Given the description of an element on the screen output the (x, y) to click on. 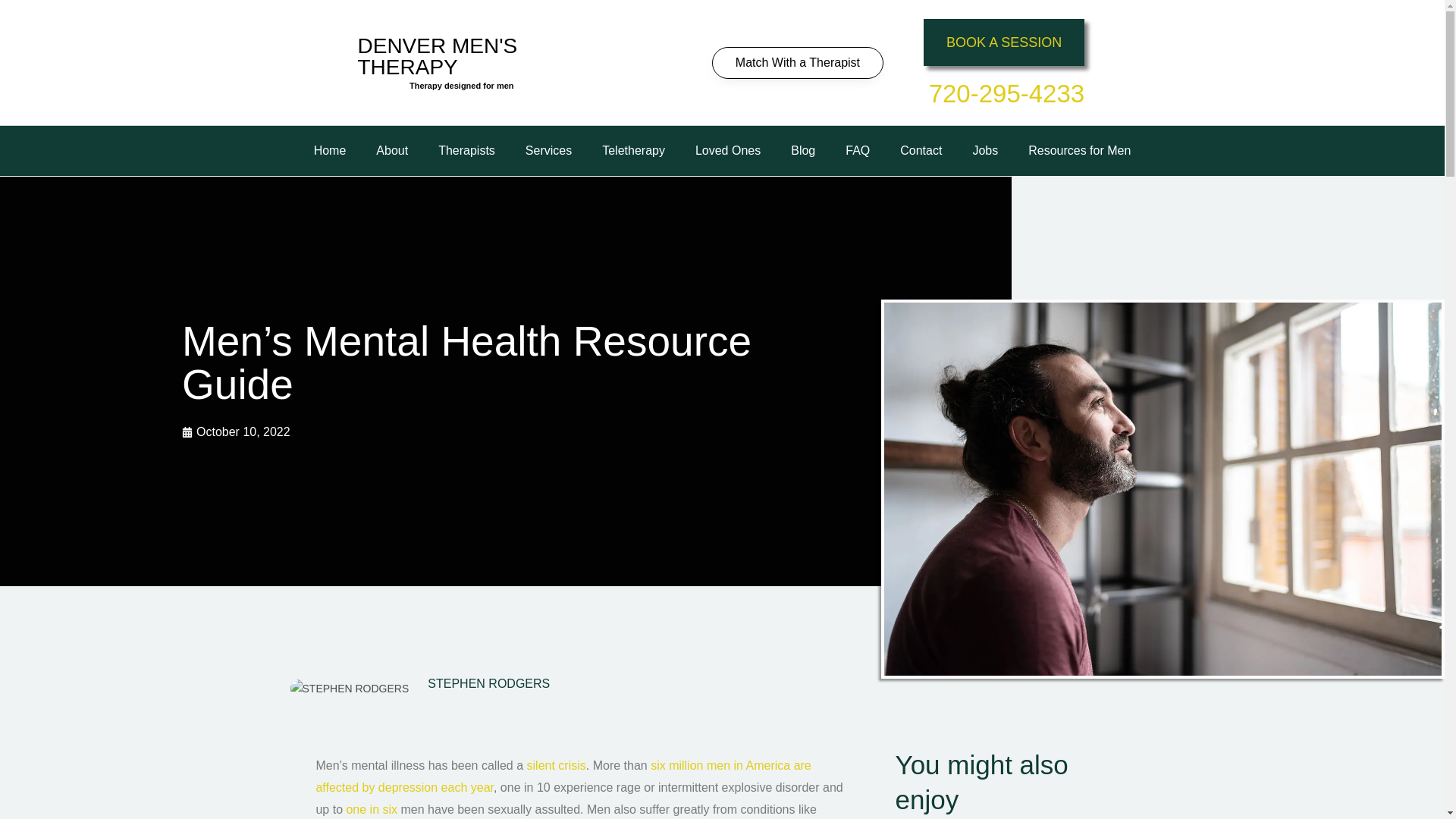
silent crisis (556, 765)
BOOK A SESSION (1003, 42)
Contact (920, 150)
Loved Ones (727, 150)
Resources for Men (1079, 150)
Therapists (467, 150)
DENVER MEN'S THERAPY (438, 56)
Therapy designed for men (461, 85)
About (392, 150)
Blog (802, 150)
one in six (371, 809)
Teletherapy (632, 150)
Match With a Therapist (797, 62)
FAQ (857, 150)
